Given the description of an element on the screen output the (x, y) to click on. 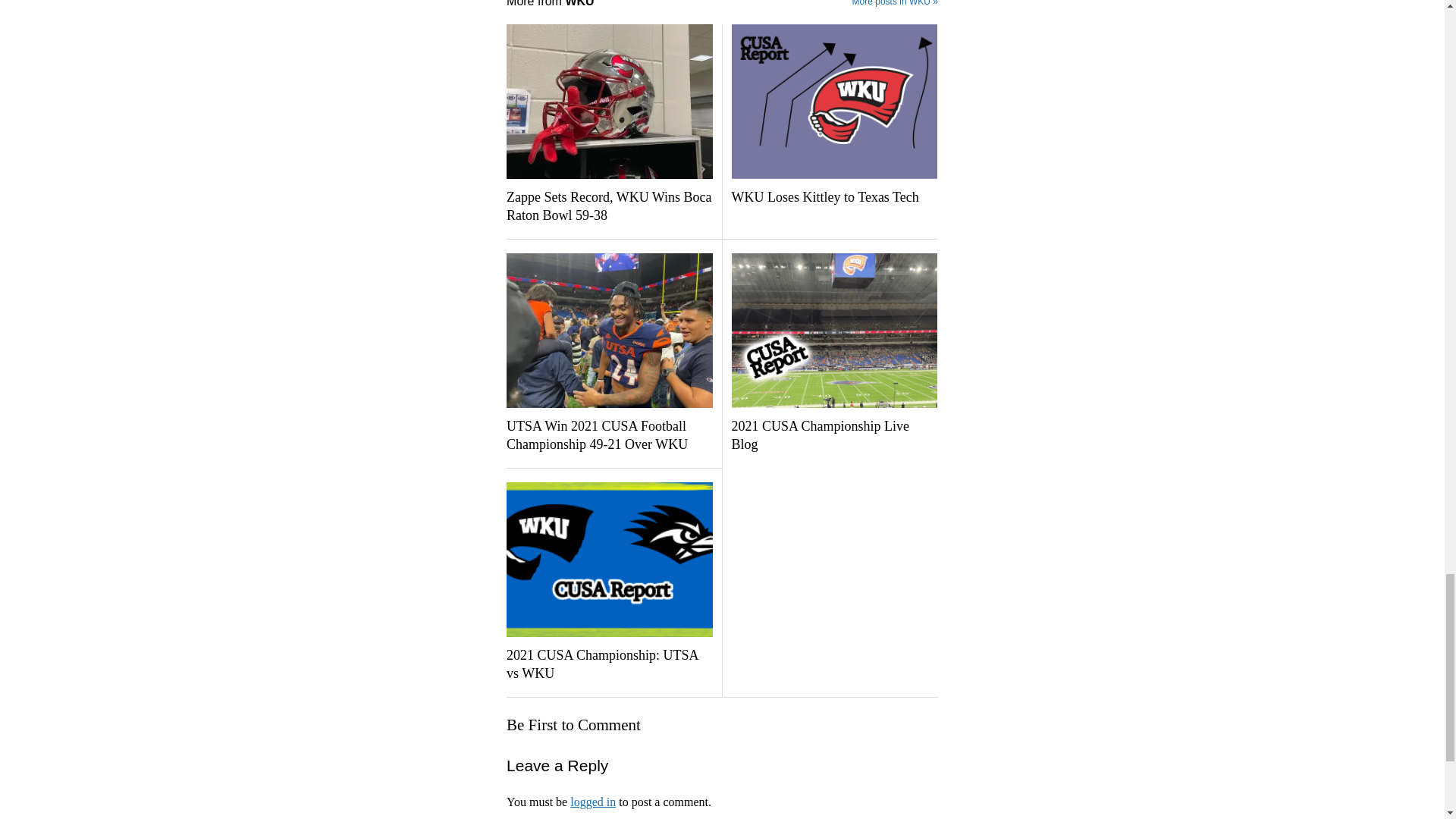
UTSA Win 2021 CUSA Football Championship 49-21 Over WKU (608, 435)
Zappe Sets Record, WKU Wins Boca Raton Bowl 59-38 (608, 207)
WKU Loses Kittley to Texas Tech (833, 198)
